Given the description of an element on the screen output the (x, y) to click on. 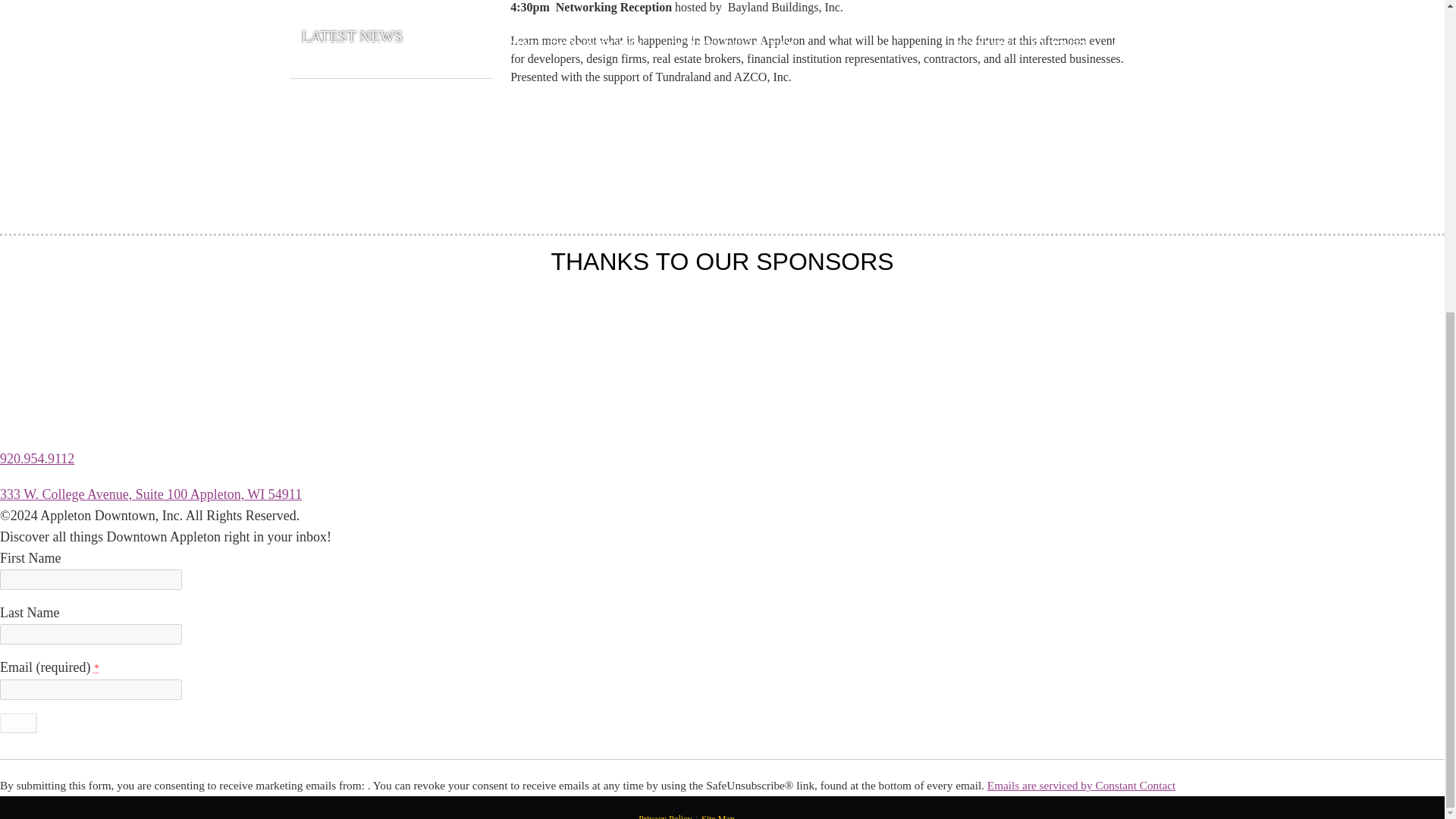
GO! (18, 722)
